Given the description of an element on the screen output the (x, y) to click on. 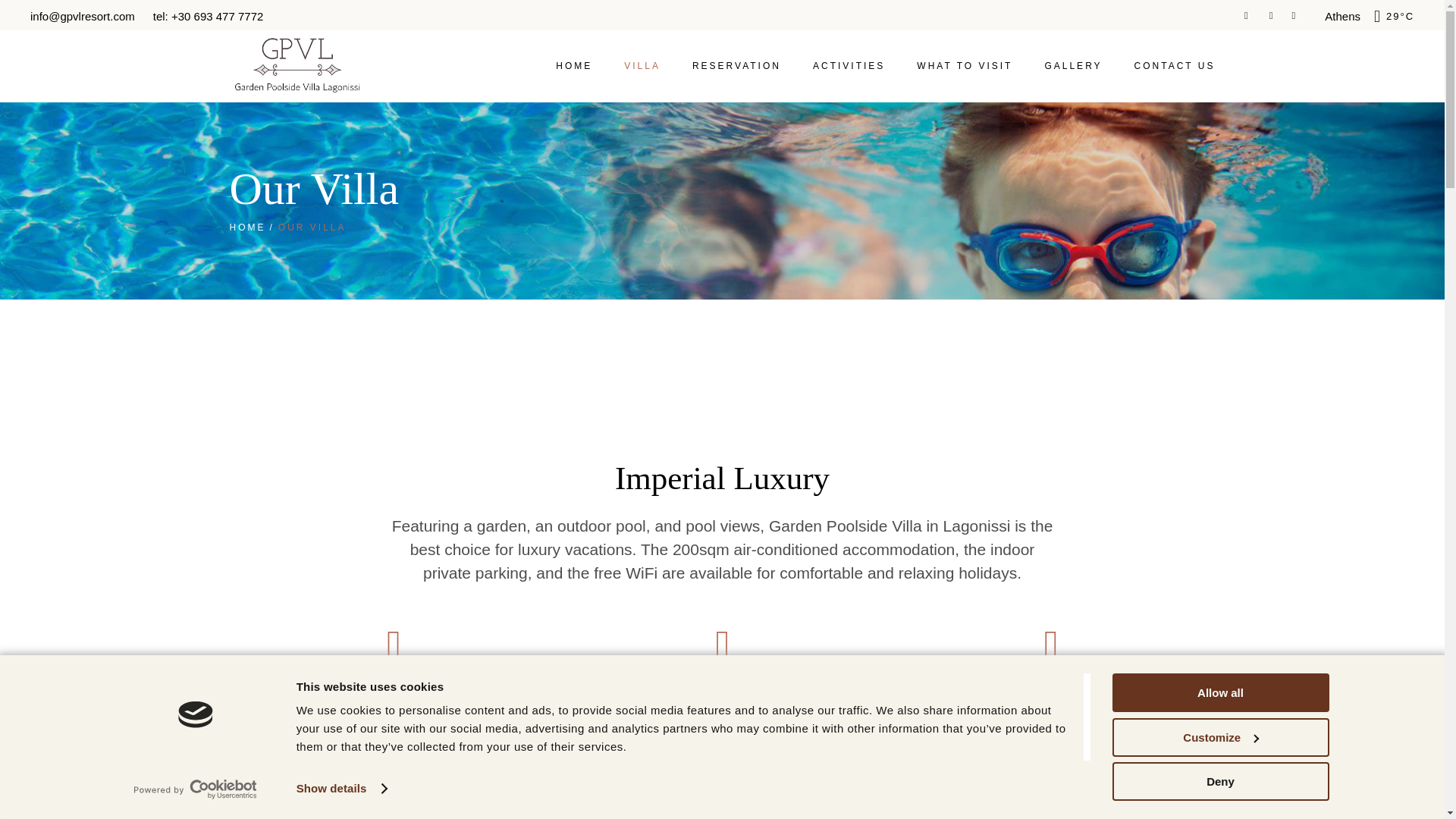
Customize (1219, 736)
Allow all (1219, 692)
RESERVATION (736, 66)
ACTIVITIES (848, 66)
Deny (1219, 781)
Show details (341, 788)
